Given the description of an element on the screen output the (x, y) to click on. 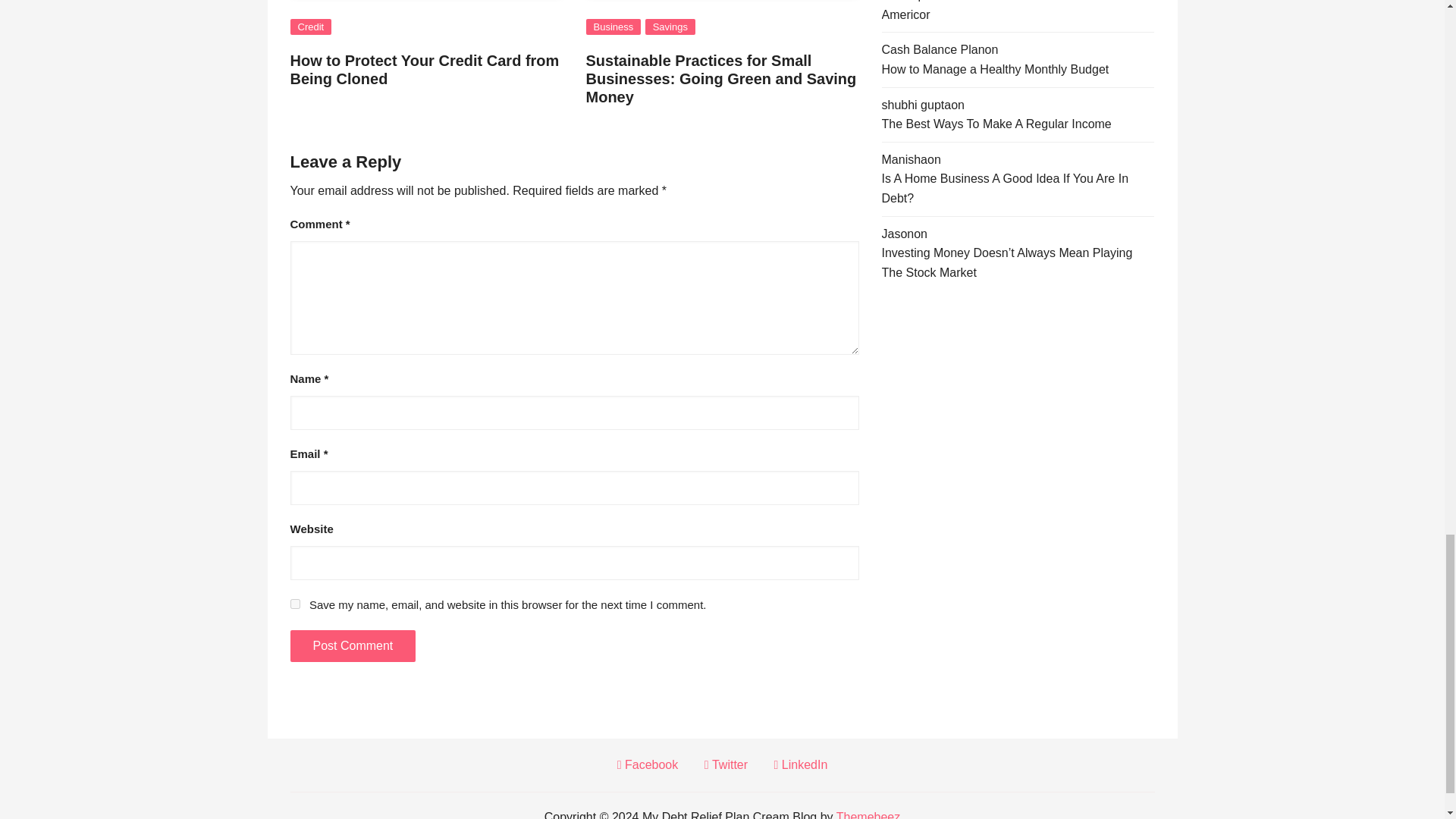
How to Protect Your Credit Card from Being Cloned (424, 69)
Credit (310, 26)
Post Comment (351, 645)
yes (294, 603)
Business (612, 26)
